Given the description of an element on the screen output the (x, y) to click on. 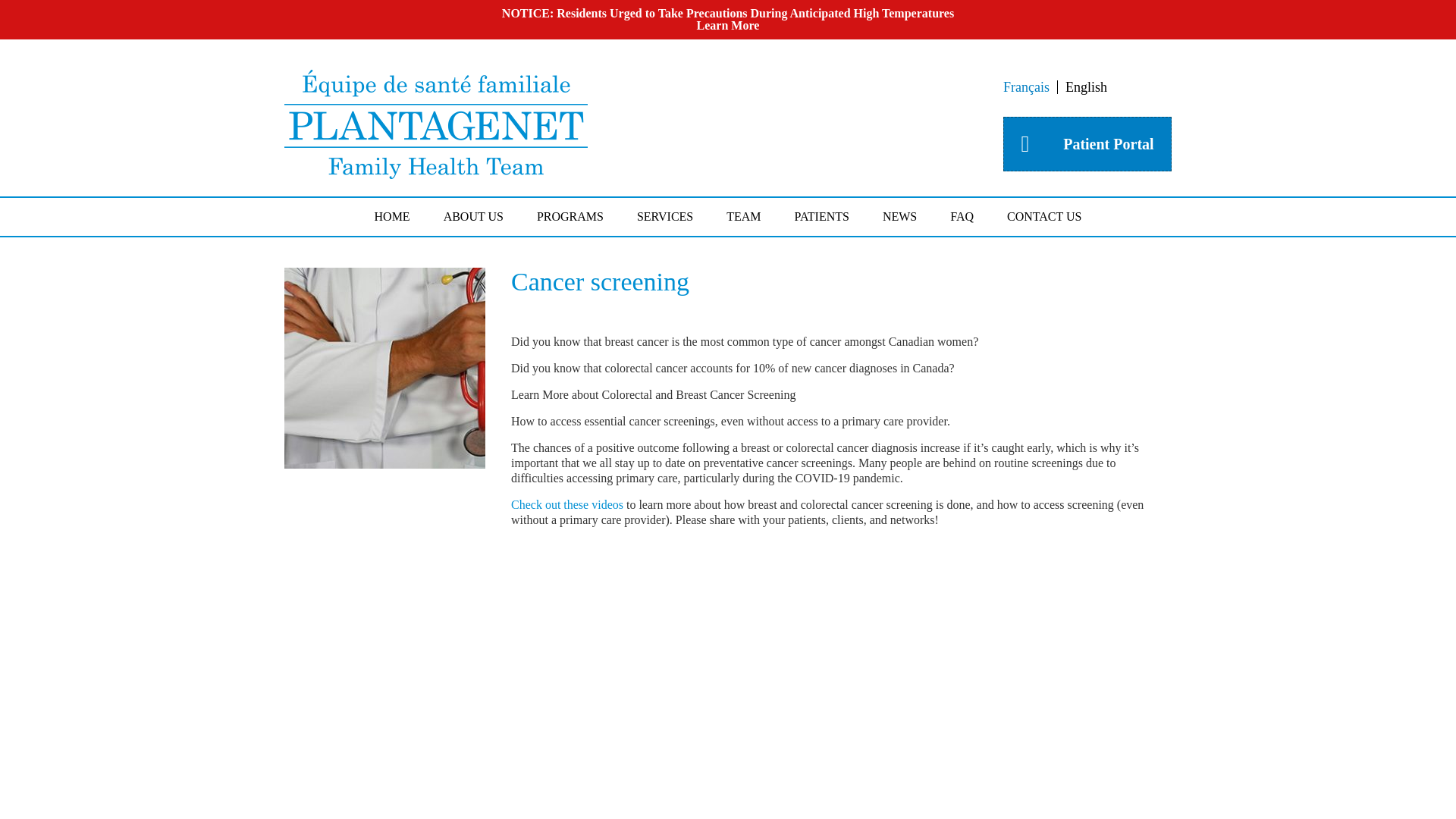
ABOUT US (473, 215)
Patient Portal (1087, 144)
PROGRAMS (570, 215)
Return to home (435, 174)
SERVICES (665, 215)
English (1085, 86)
Learn More (728, 24)
HOME (392, 215)
